Given the description of an element on the screen output the (x, y) to click on. 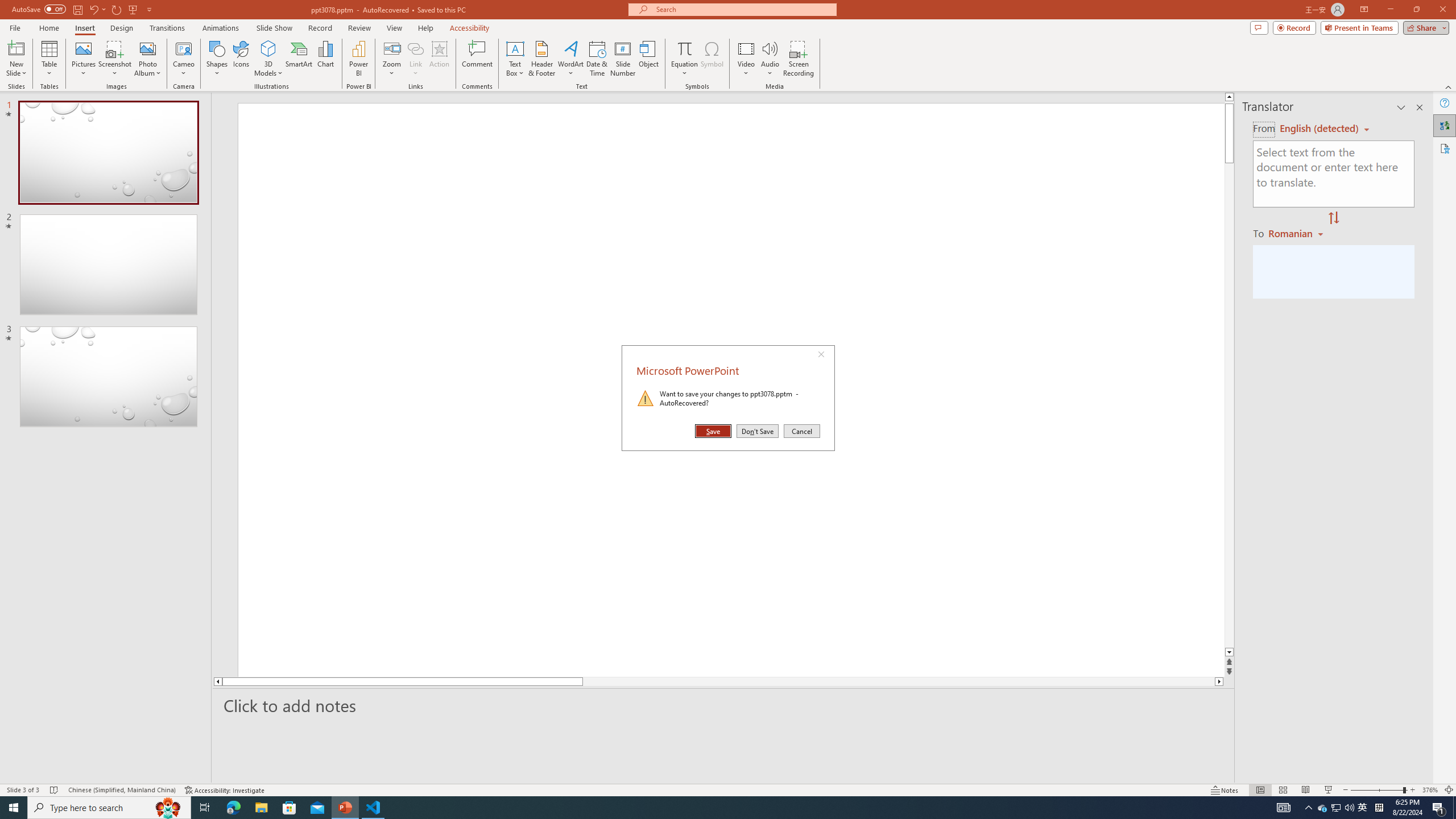
Czech (detected) (1319, 128)
Equation (683, 58)
Link (415, 58)
Draw Horizontal Text Box (1322, 807)
SmartArt... (515, 48)
